Given the description of an element on the screen output the (x, y) to click on. 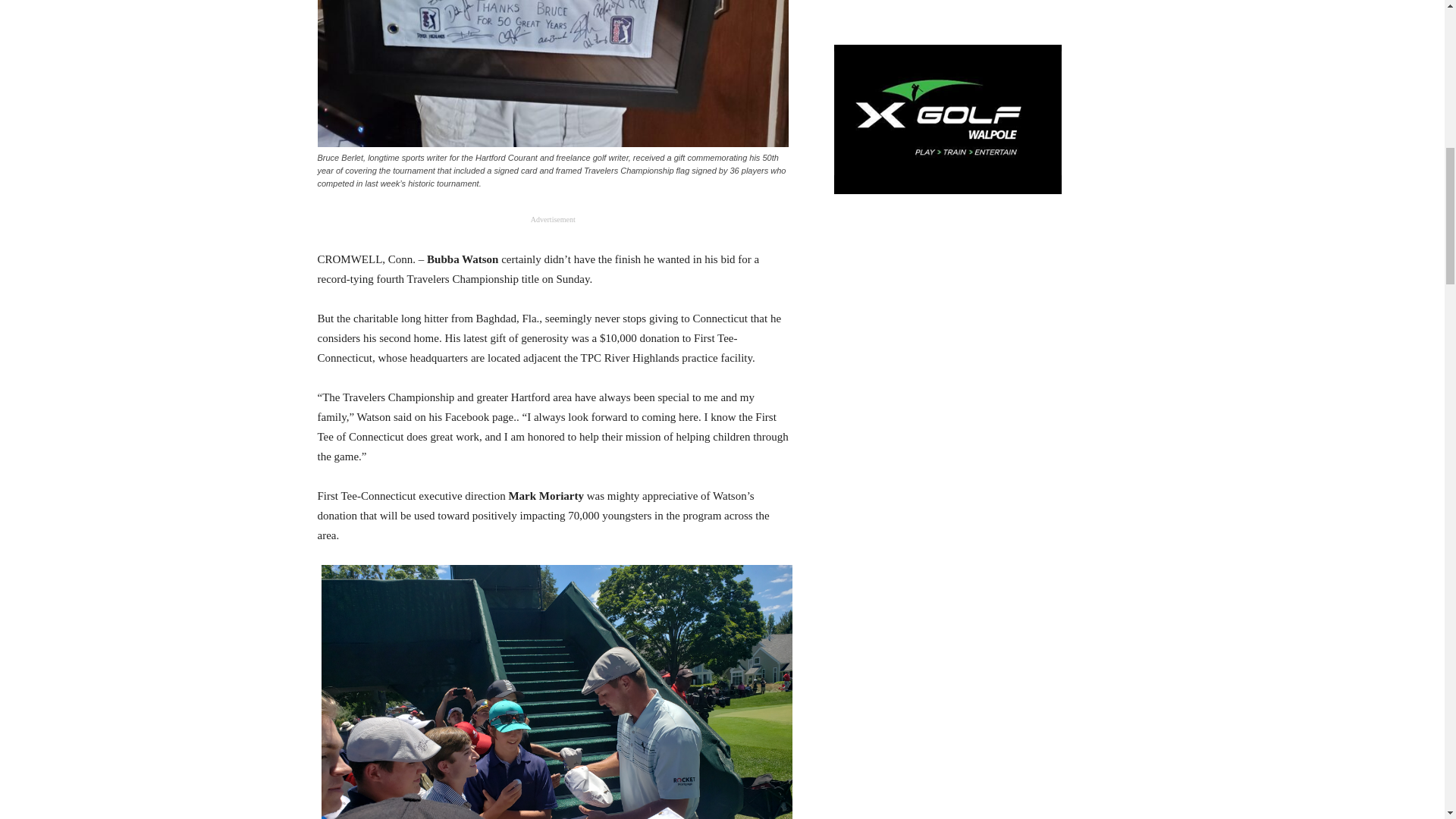
bruceberlet (553, 73)
